Given the description of an element on the screen output the (x, y) to click on. 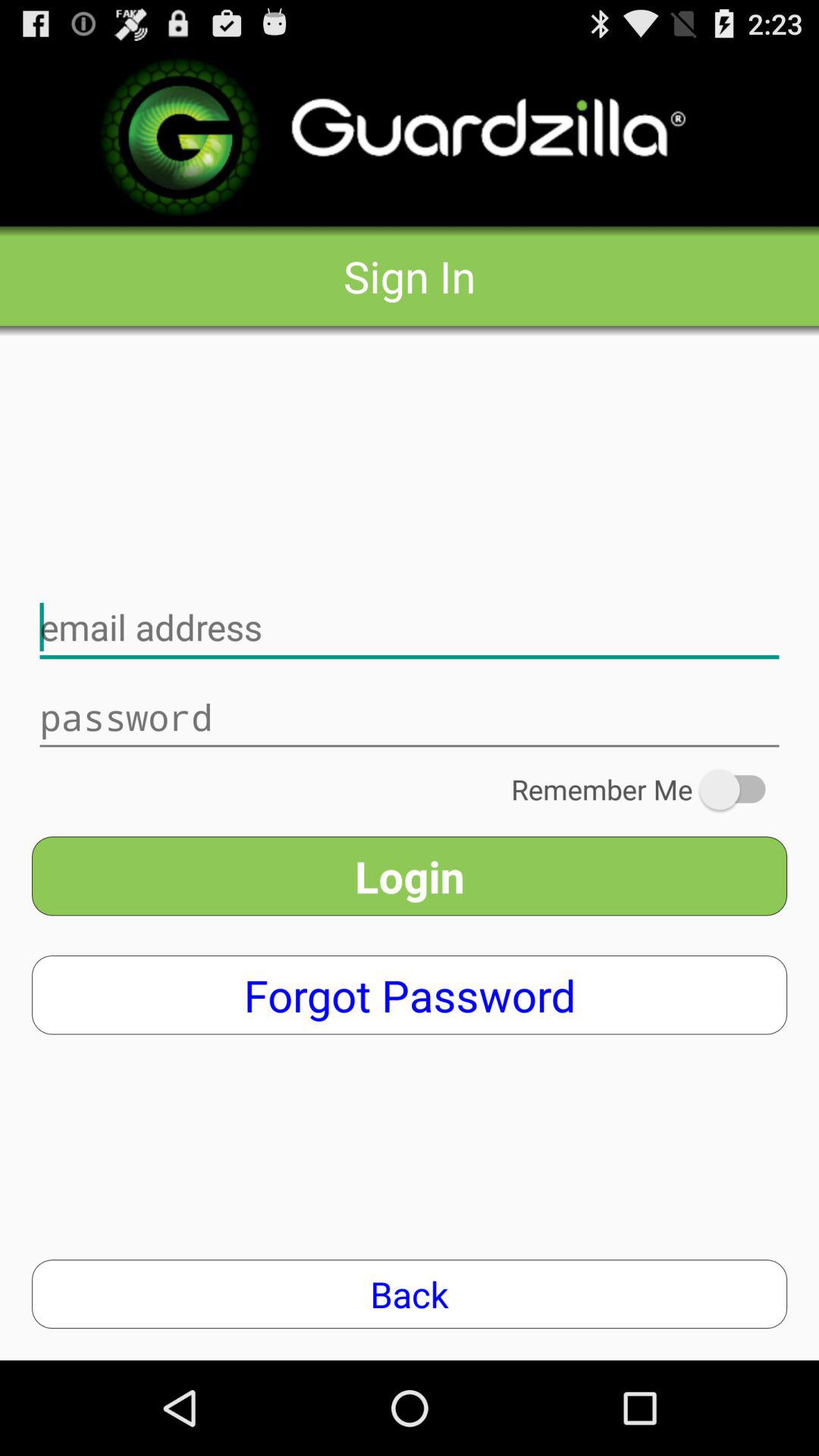
enter email (409, 627)
